Given the description of an element on the screen output the (x, y) to click on. 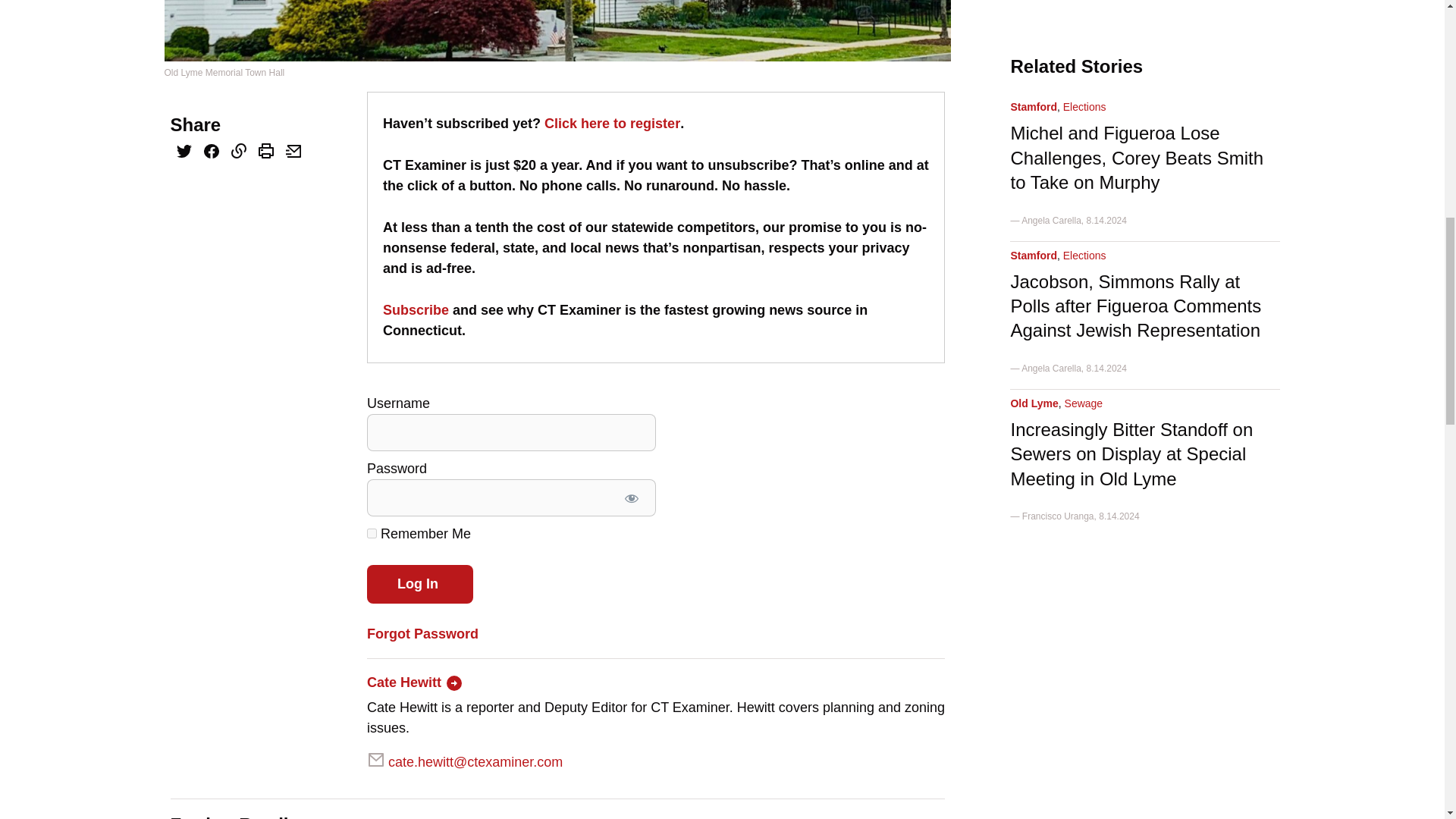
Log In (419, 584)
Print (265, 152)
forever (371, 533)
Facebook (210, 152)
Copy Link (237, 152)
Twitter (183, 151)
Email (292, 151)
Click here to register (611, 123)
Subscribe (415, 309)
